Given the description of an element on the screen output the (x, y) to click on. 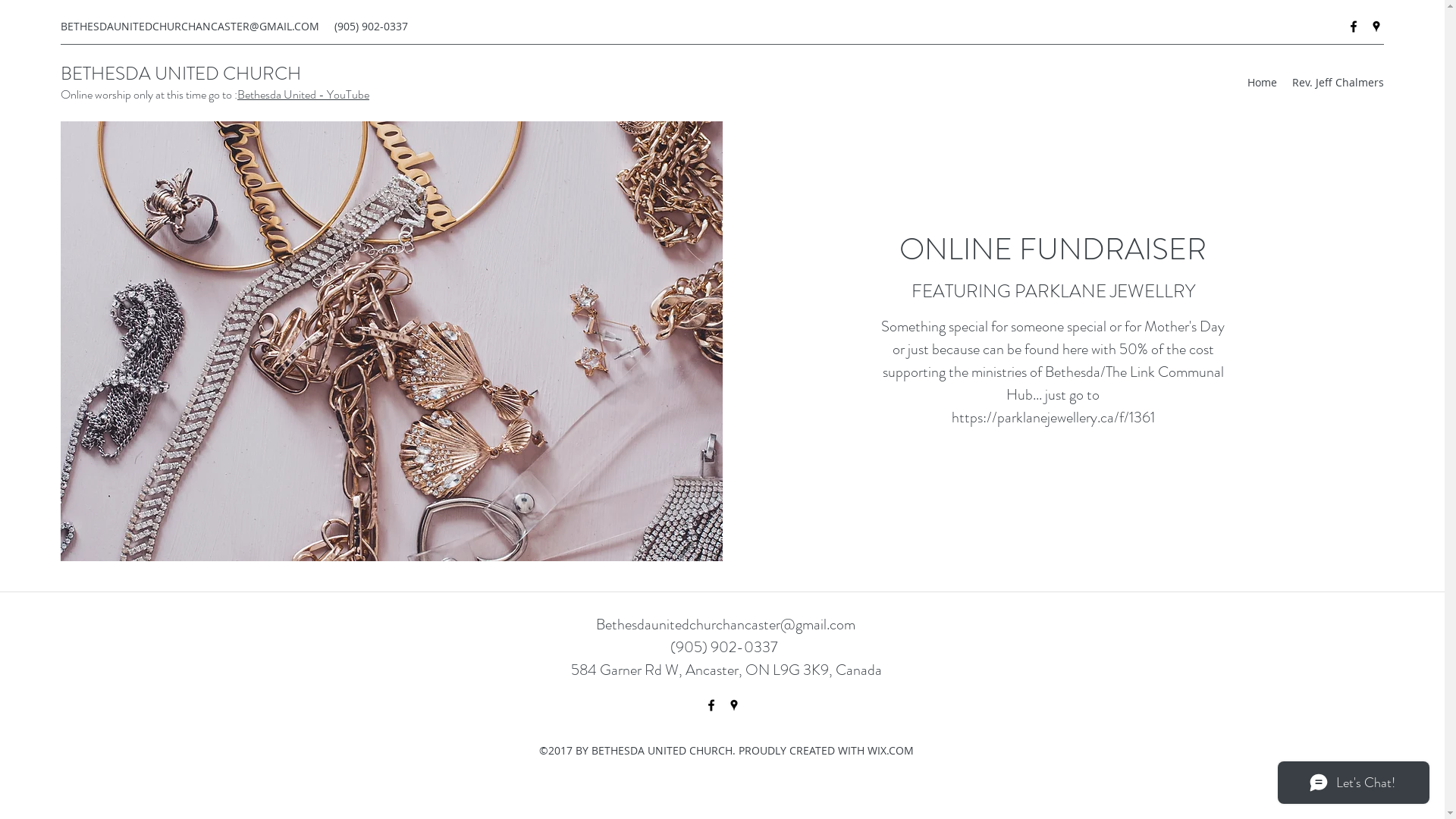
Bethesdaunitedchurchancaster@gmail.com Element type: text (725, 624)
https://parklanejewellery.ca/f/1361 Element type: text (1052, 417)
BETHESDAUNITEDCHURCHANCASTER@GMAIL.COM Element type: text (189, 25)
Bethesda United - YouTube Element type: text (303, 94)
Rev. Jeff Chalmers Element type: text (1337, 82)
Home Element type: text (1261, 82)
